Given the description of an element on the screen output the (x, y) to click on. 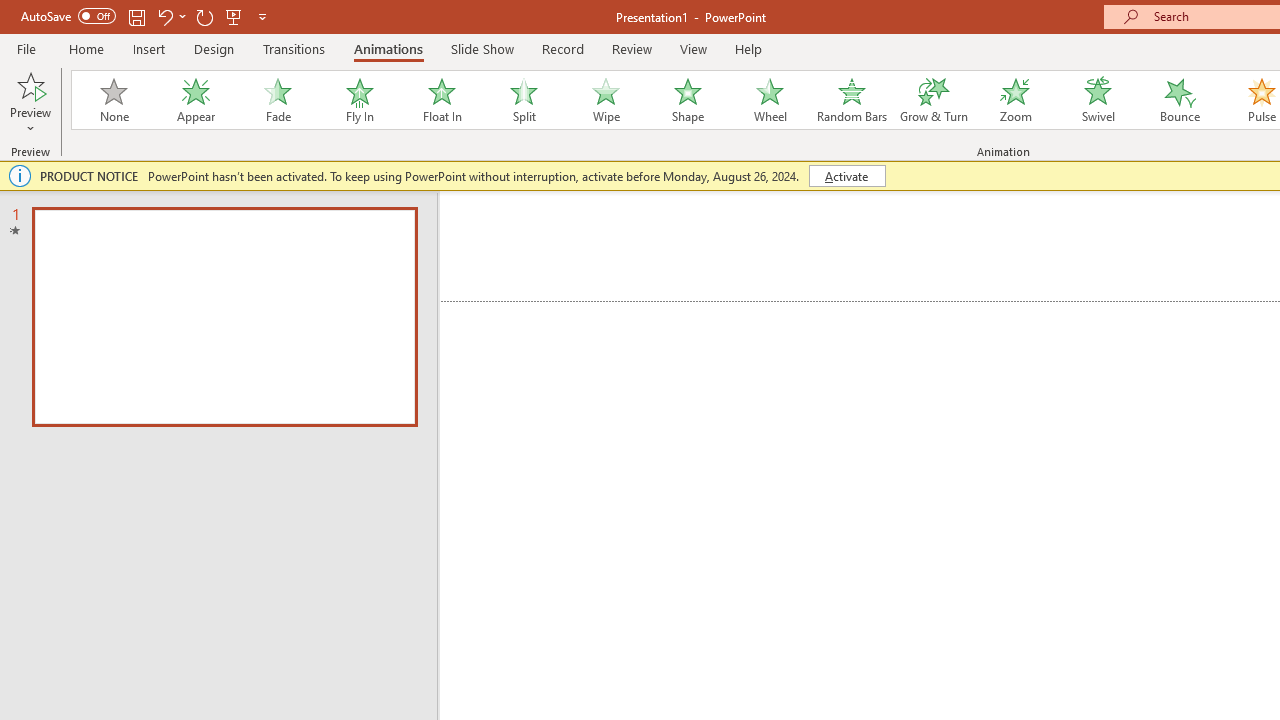
None (113, 100)
Swivel (1098, 100)
Bounce (1180, 100)
Wipe (605, 100)
